Given the description of an element on the screen output the (x, y) to click on. 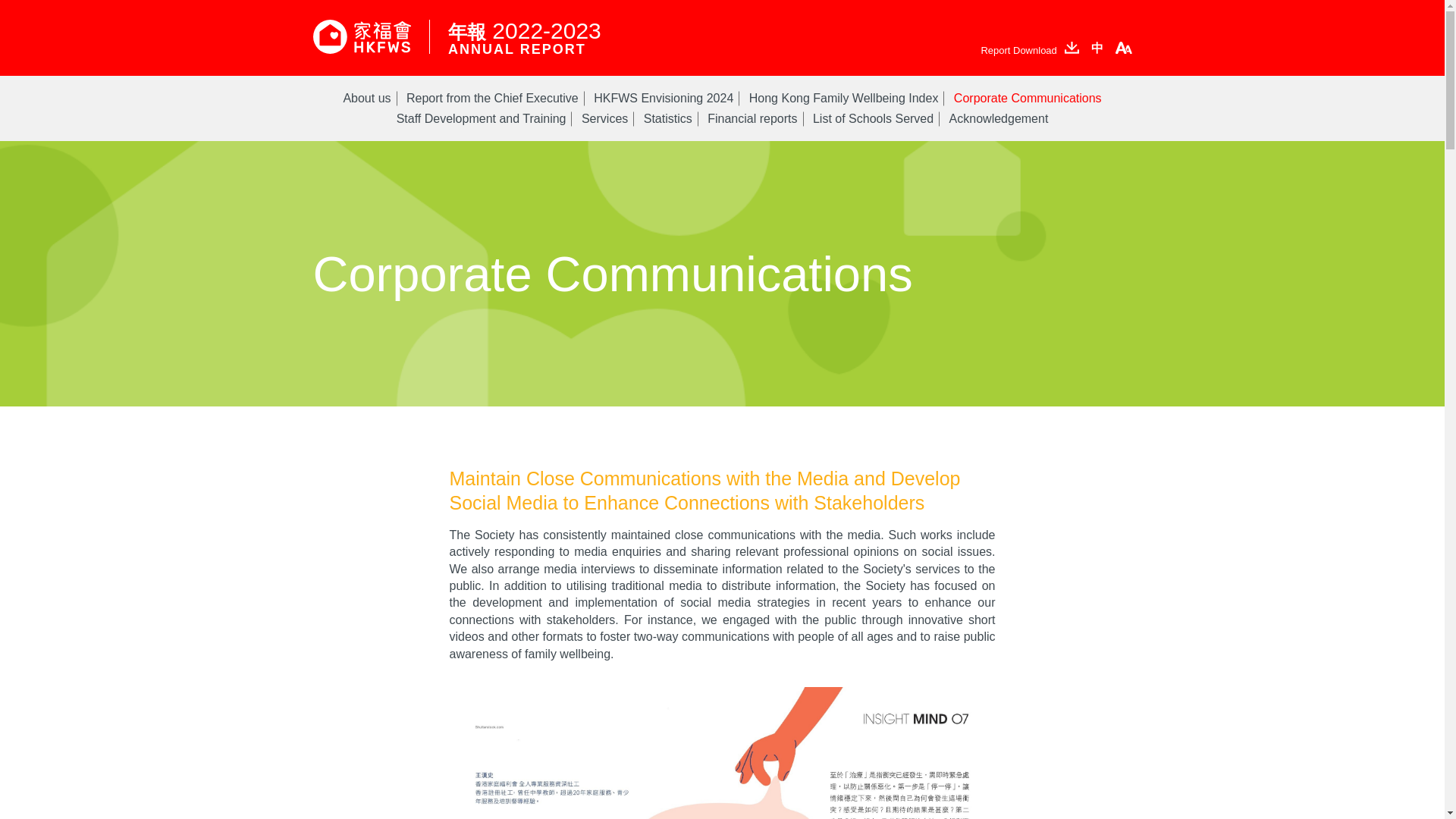
Hong Kong Family Wellbeing Index (844, 97)
HKFWS Envisioning 2024 (663, 97)
Report from the Chief Executive (492, 97)
Financial reports (751, 118)
Acknowledgement (998, 118)
Services (603, 118)
Corporate Communications (1027, 97)
Report Download (1028, 48)
Statistics (668, 118)
Staff Development and Training (481, 118)
About us (366, 97)
List of Schools Served (872, 118)
